Given the description of an element on the screen output the (x, y) to click on. 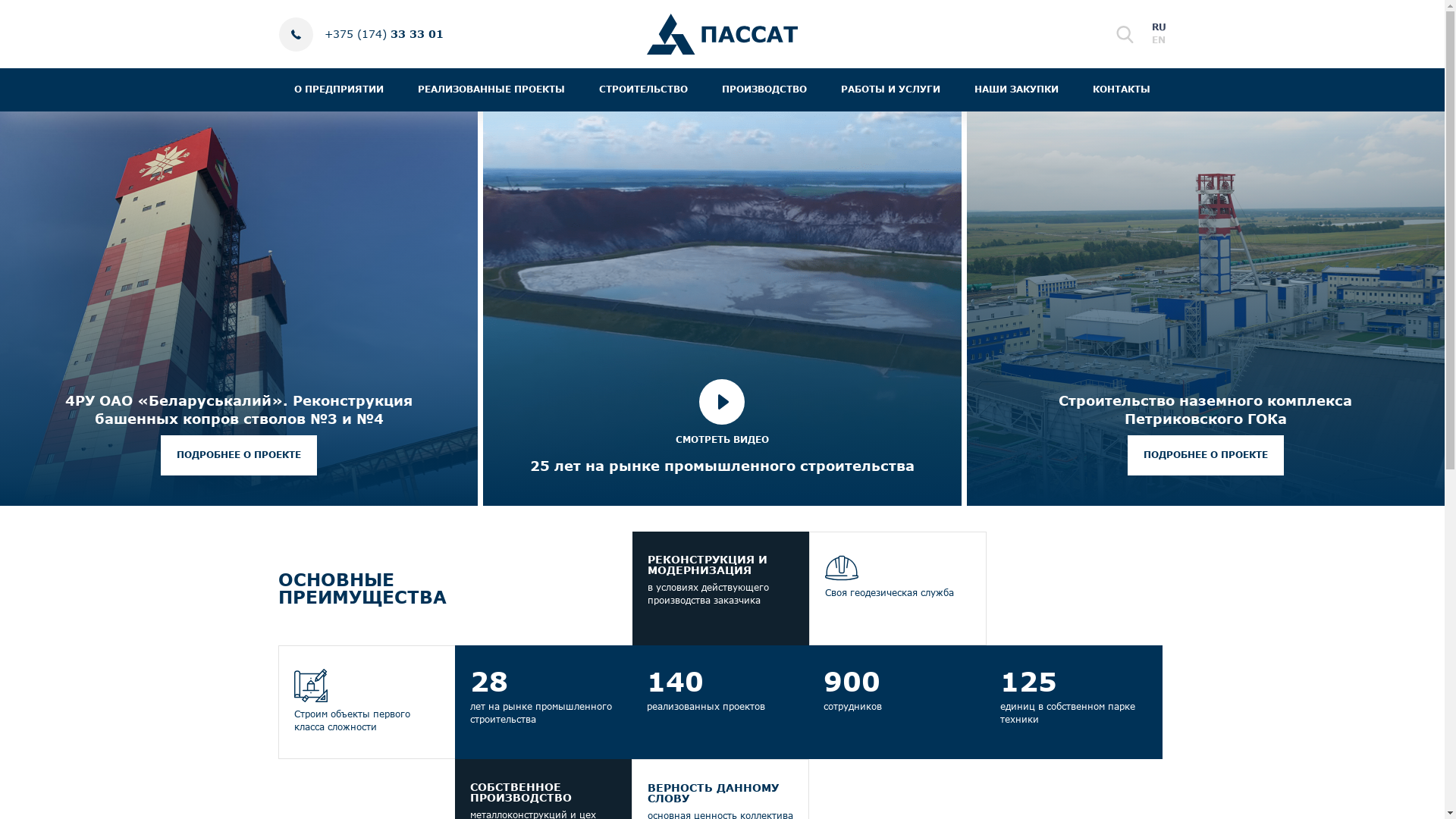
+375 (174) 33 33 01 Element type: text (383, 33)
EN Element type: text (1157, 39)
passatltd.by Element type: hover (721, 33)
